Given the description of an element on the screen output the (x, y) to click on. 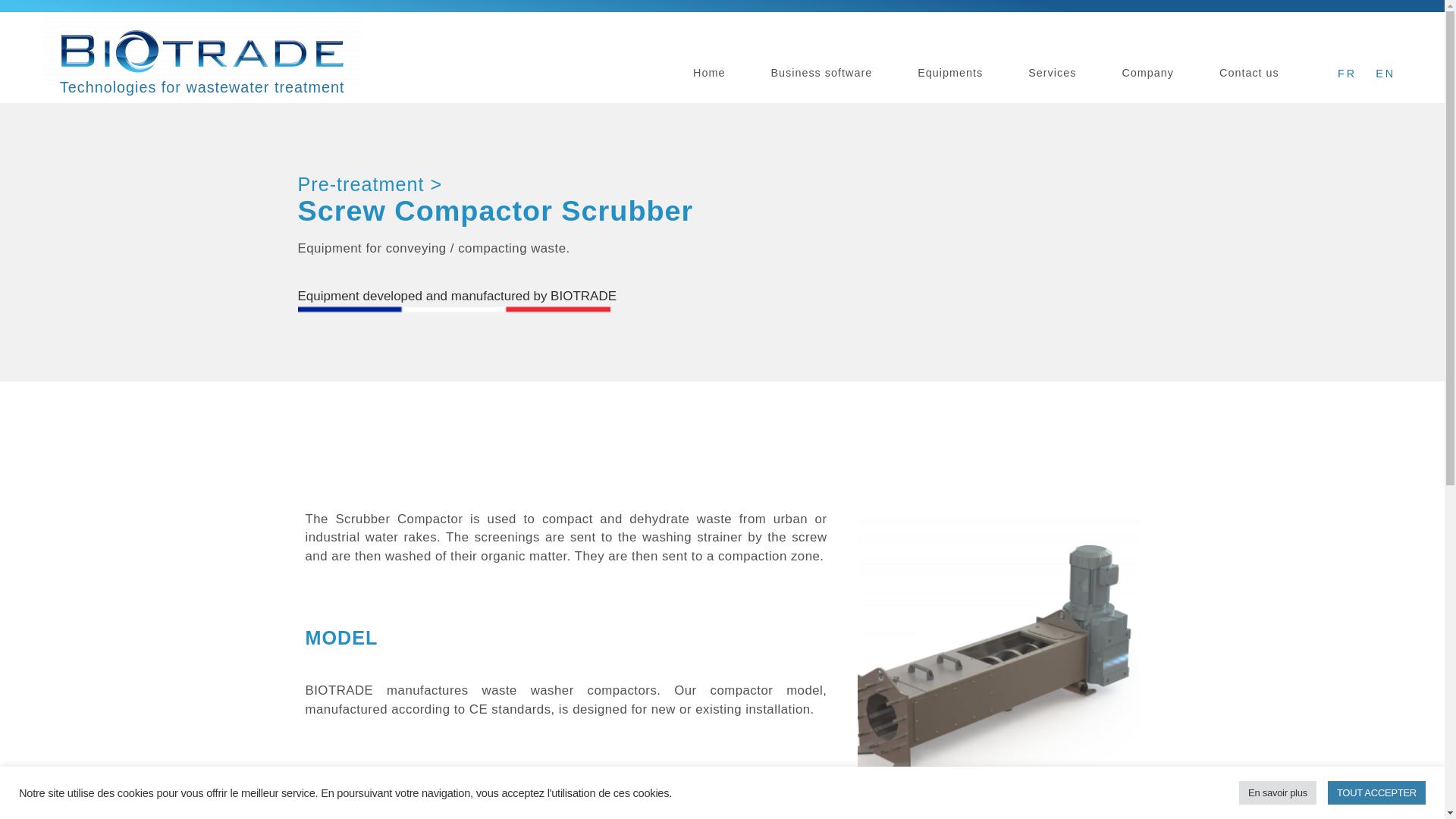
En savoir plus (1277, 792)
EN (1381, 73)
Business software (820, 72)
Services (1051, 72)
FR (1343, 73)
Screw Compactor Scrubber (495, 210)
TOUT ACCEPTER (1376, 792)
Contact us (1249, 72)
Company (1147, 72)
Equipments (949, 72)
Home (708, 72)
